Given the description of an element on the screen output the (x, y) to click on. 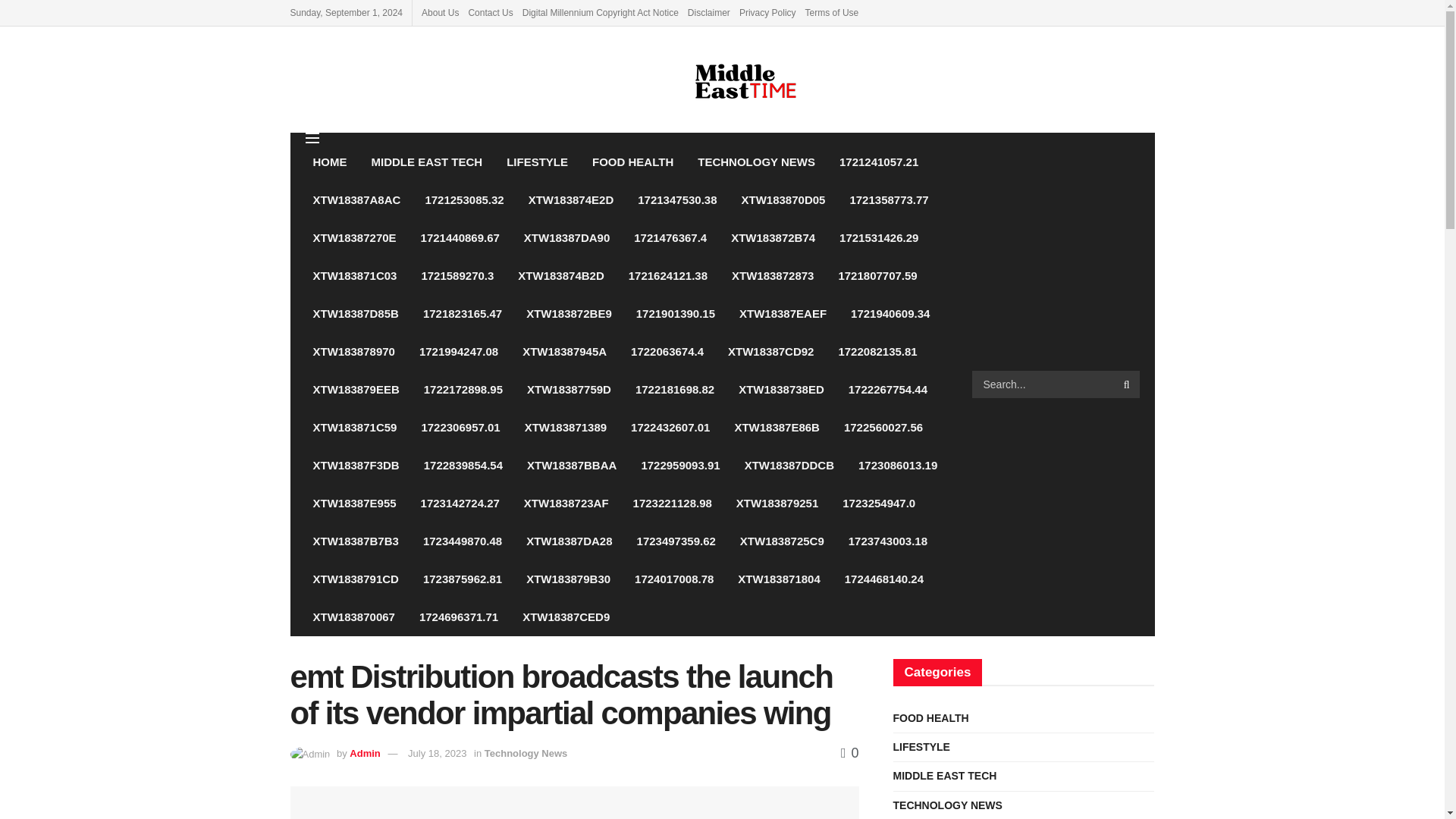
FOOD HEALTH (632, 161)
Terms of Use (832, 12)
MIDDLE EAST TECH (427, 161)
XTW18387270E (353, 238)
XTW183872B74 (773, 238)
LIFESTYLE (537, 161)
1721994247.08 (459, 351)
1721823165.47 (461, 313)
1721476367.4 (670, 238)
XTW183878970 (352, 351)
